Given the description of an element on the screen output the (x, y) to click on. 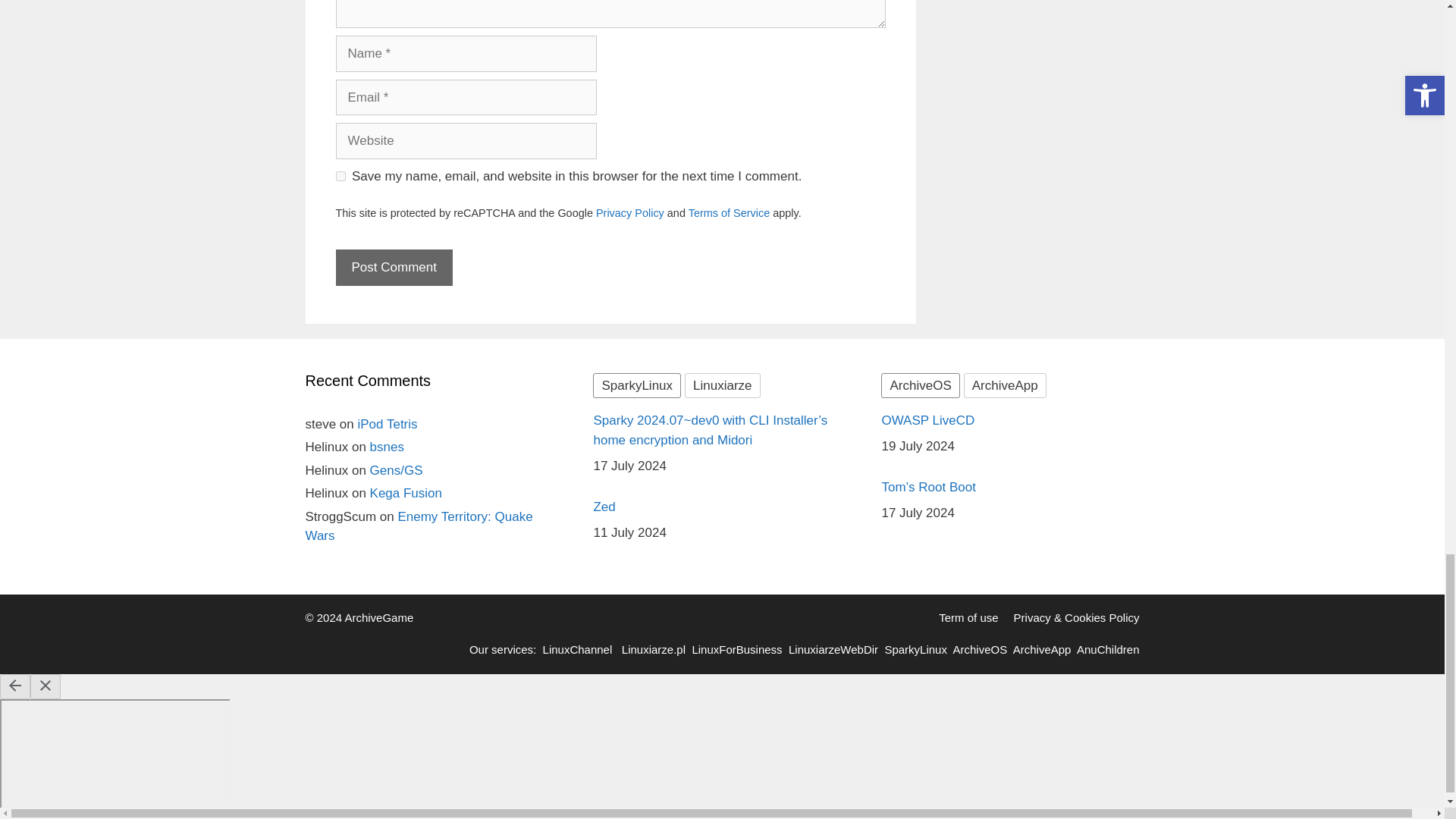
yes (339, 175)
Post Comment (392, 267)
